Given the description of an element on the screen output the (x, y) to click on. 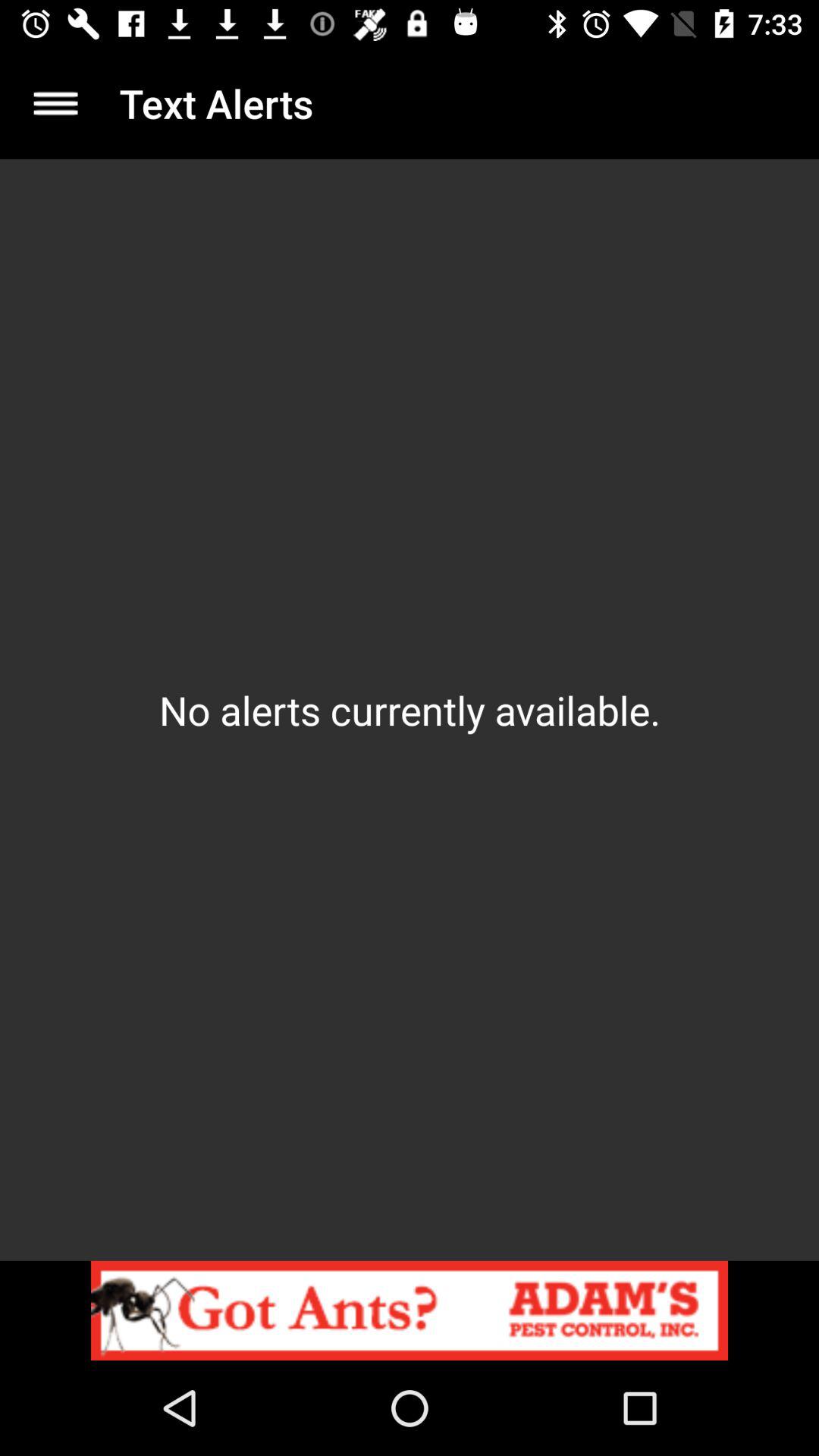
open the item below the no alerts currently item (409, 1310)
